Given the description of an element on the screen output the (x, y) to click on. 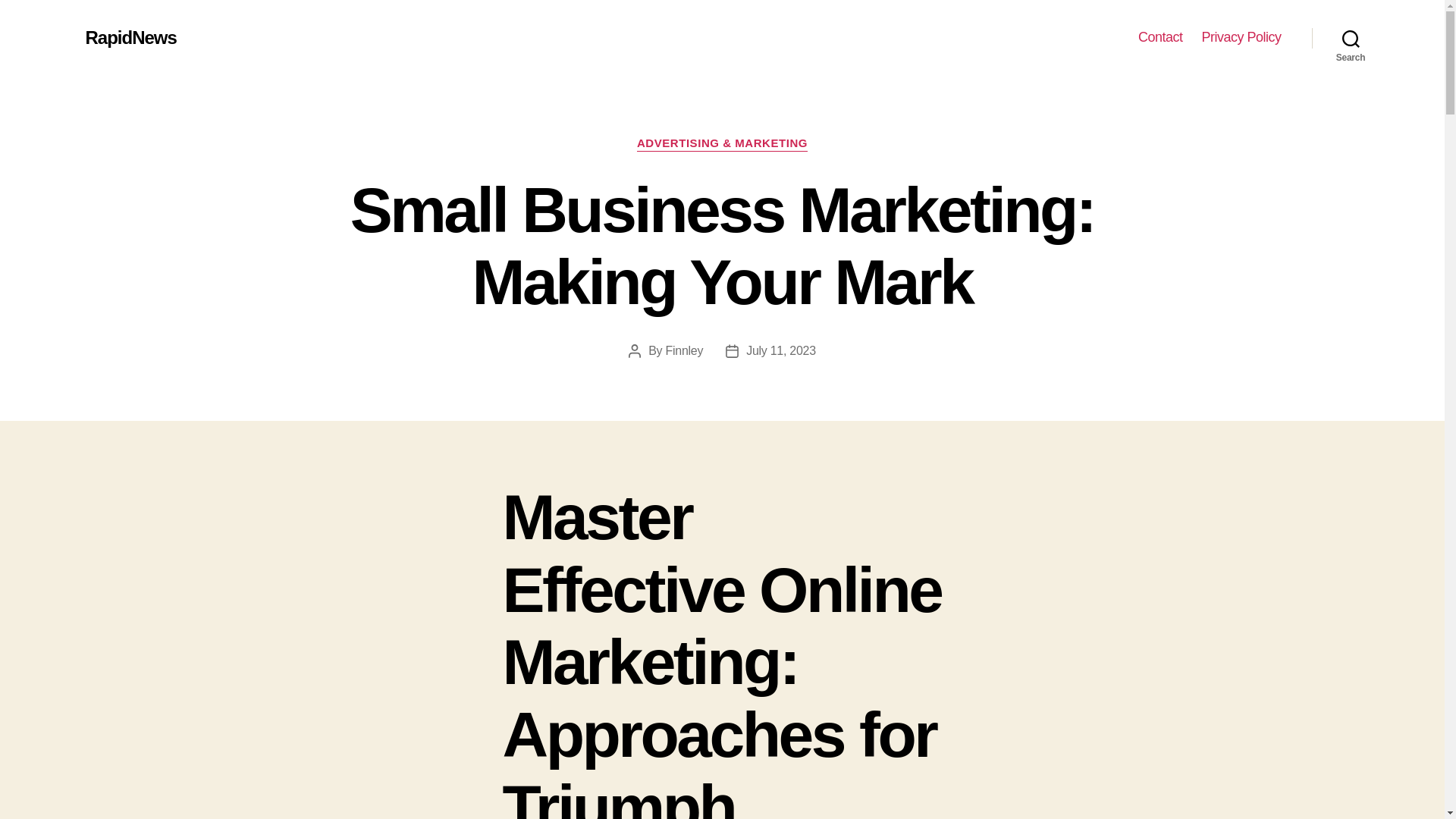
Privacy Policy (1241, 37)
July 11, 2023 (780, 350)
Finnley (684, 350)
RapidNews (130, 37)
Search (1350, 37)
Contact (1160, 37)
